Given the description of an element on the screen output the (x, y) to click on. 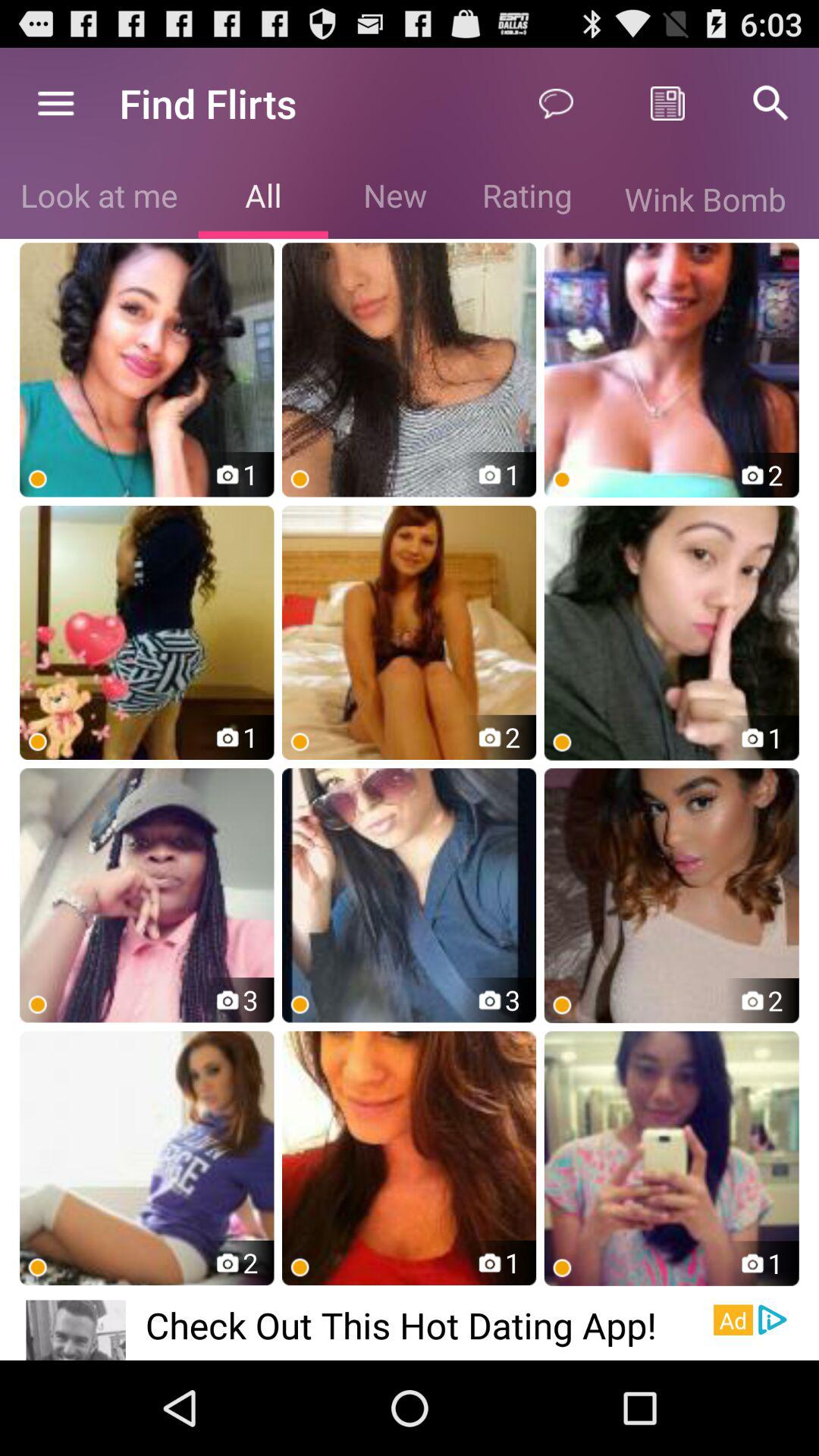
tap the item below the all (409, 369)
